Given the description of an element on the screen output the (x, y) to click on. 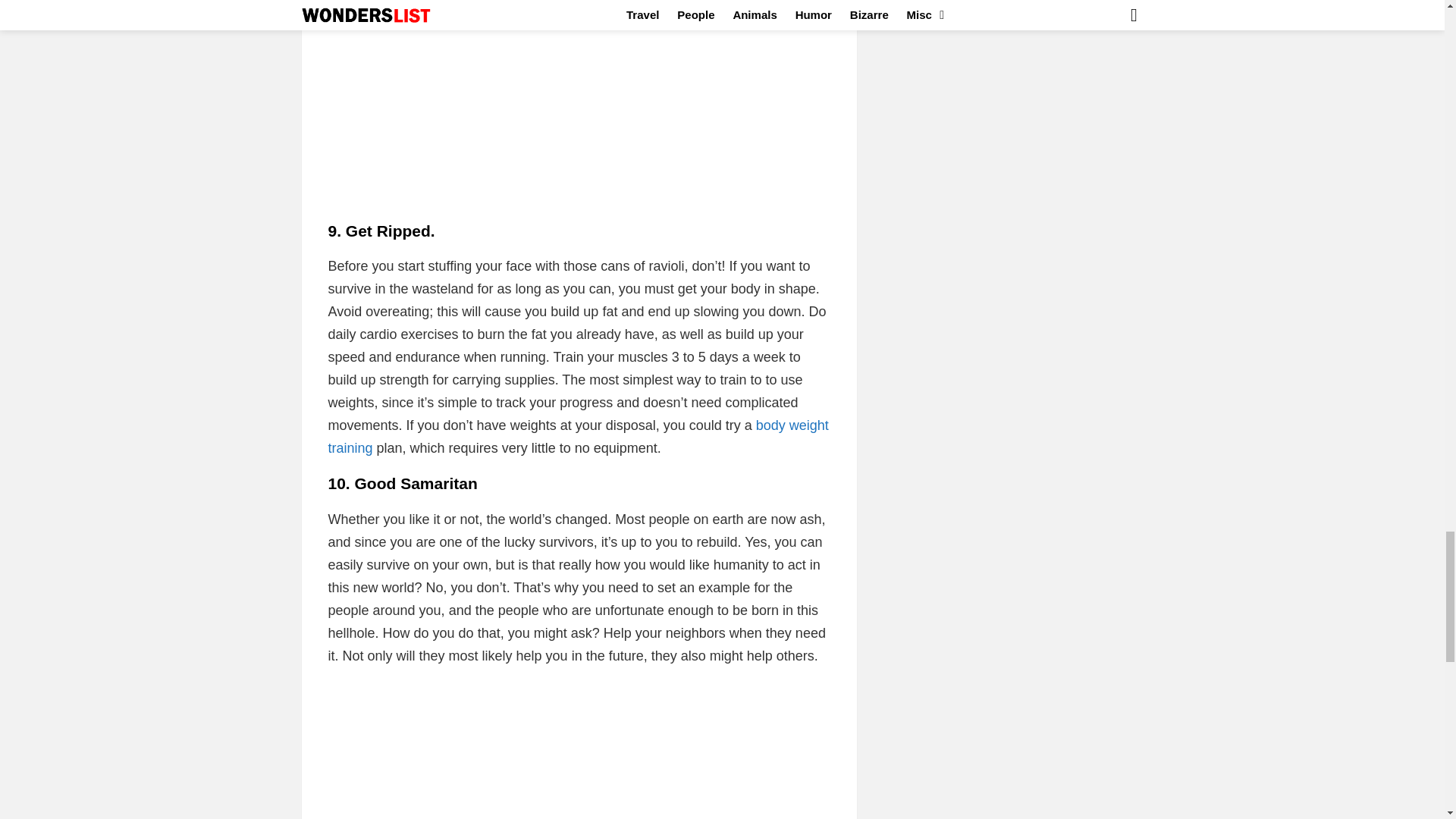
body weight training (577, 436)
